Given the description of an element on the screen output the (x, y) to click on. 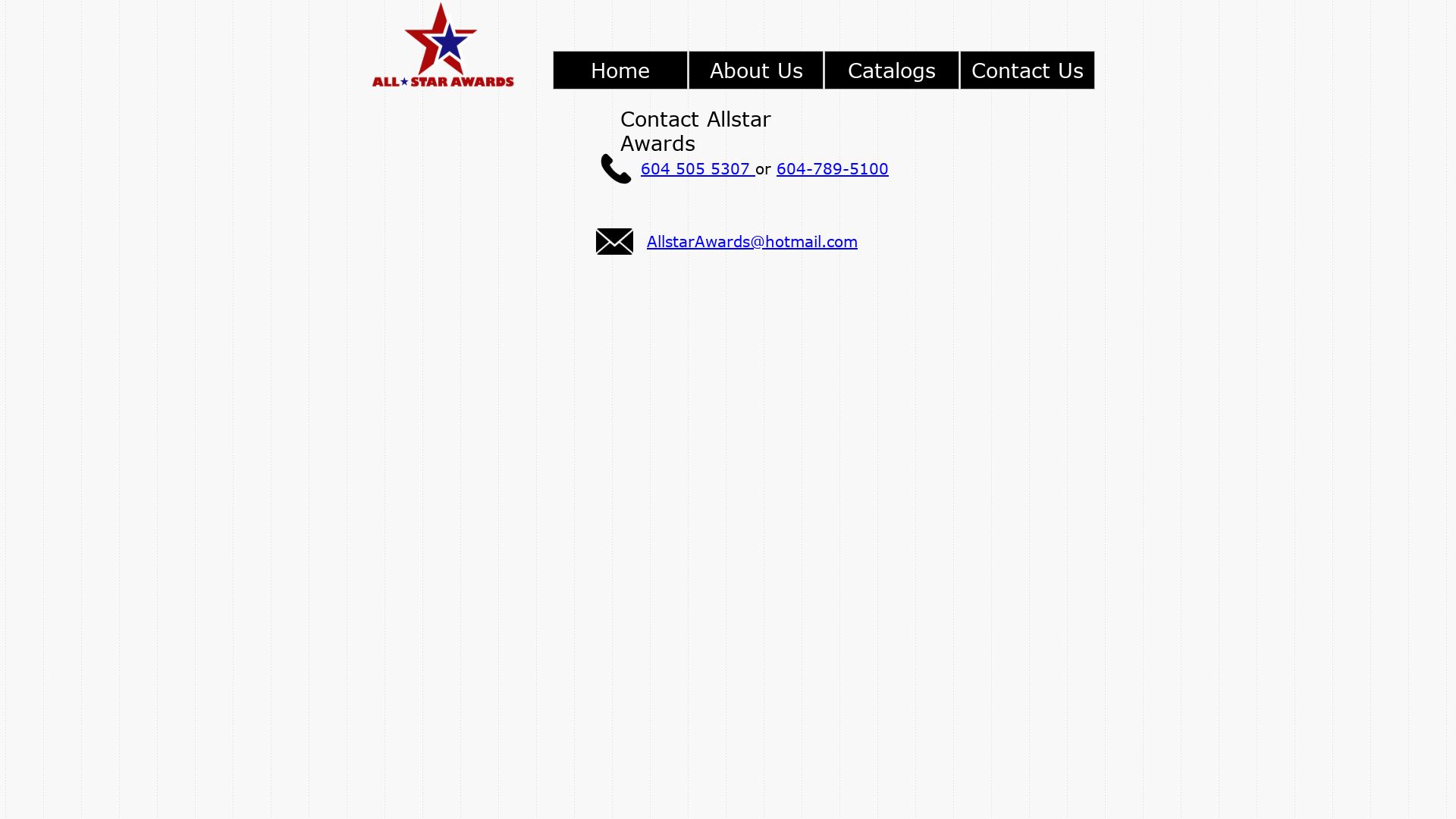
Contact Us Element type: text (1027, 69)
About Us Element type: text (755, 69)
604-789-5100 Element type: text (832, 167)
Catalogs Element type: text (891, 69)
Home Element type: text (619, 69)
AllstarAwards@hotmail.com Element type: text (751, 240)
604 505 5307 Element type: text (697, 167)
